Given the description of an element on the screen output the (x, y) to click on. 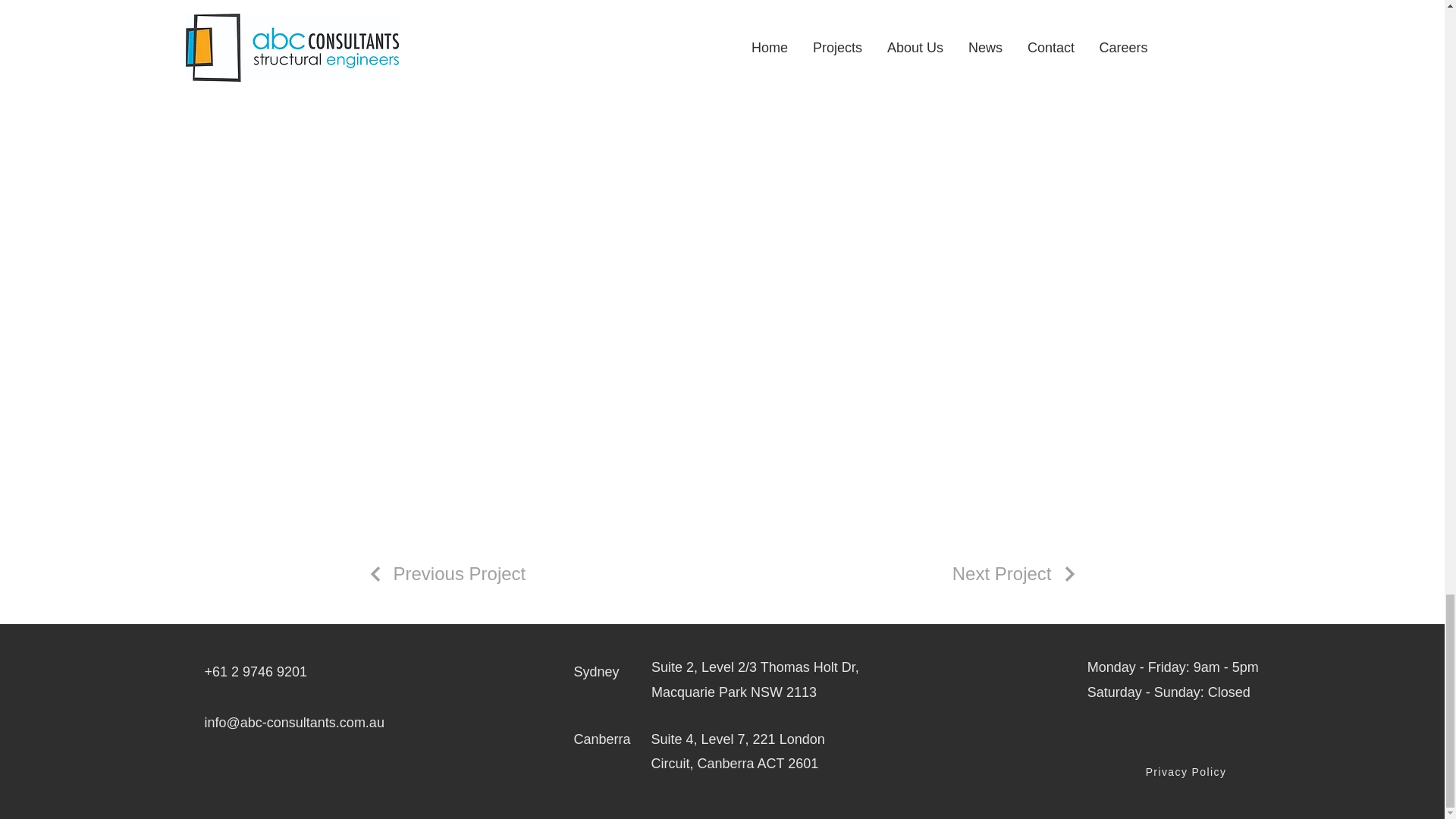
Previous Project (445, 573)
Next Project (1015, 573)
Privacy Policy (1187, 771)
